Given the description of an element on the screen output the (x, y) to click on. 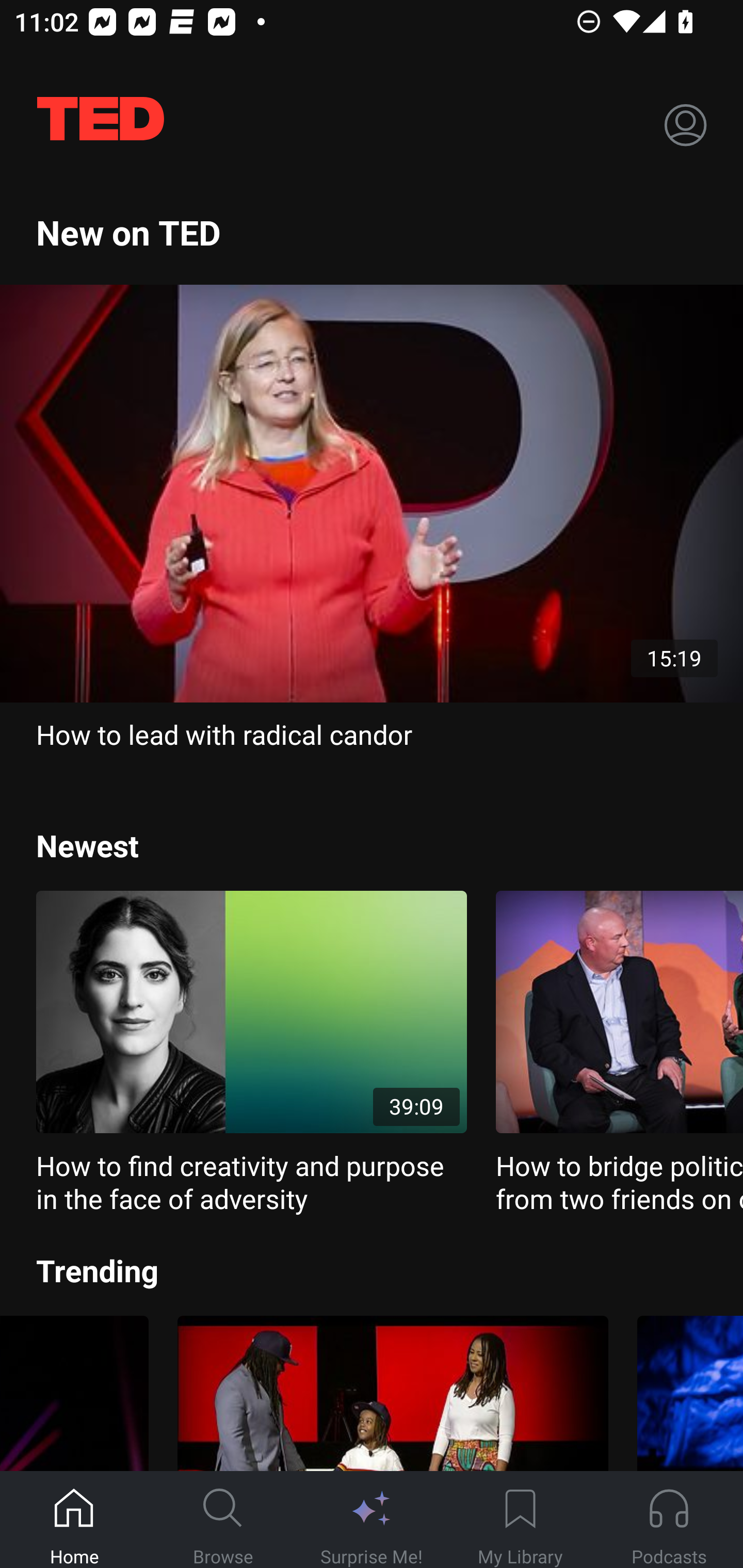
Home (74, 1520)
Browse (222, 1520)
Surprise Me! (371, 1520)
My Library (519, 1520)
Podcasts (668, 1520)
